Given the description of an element on the screen output the (x, y) to click on. 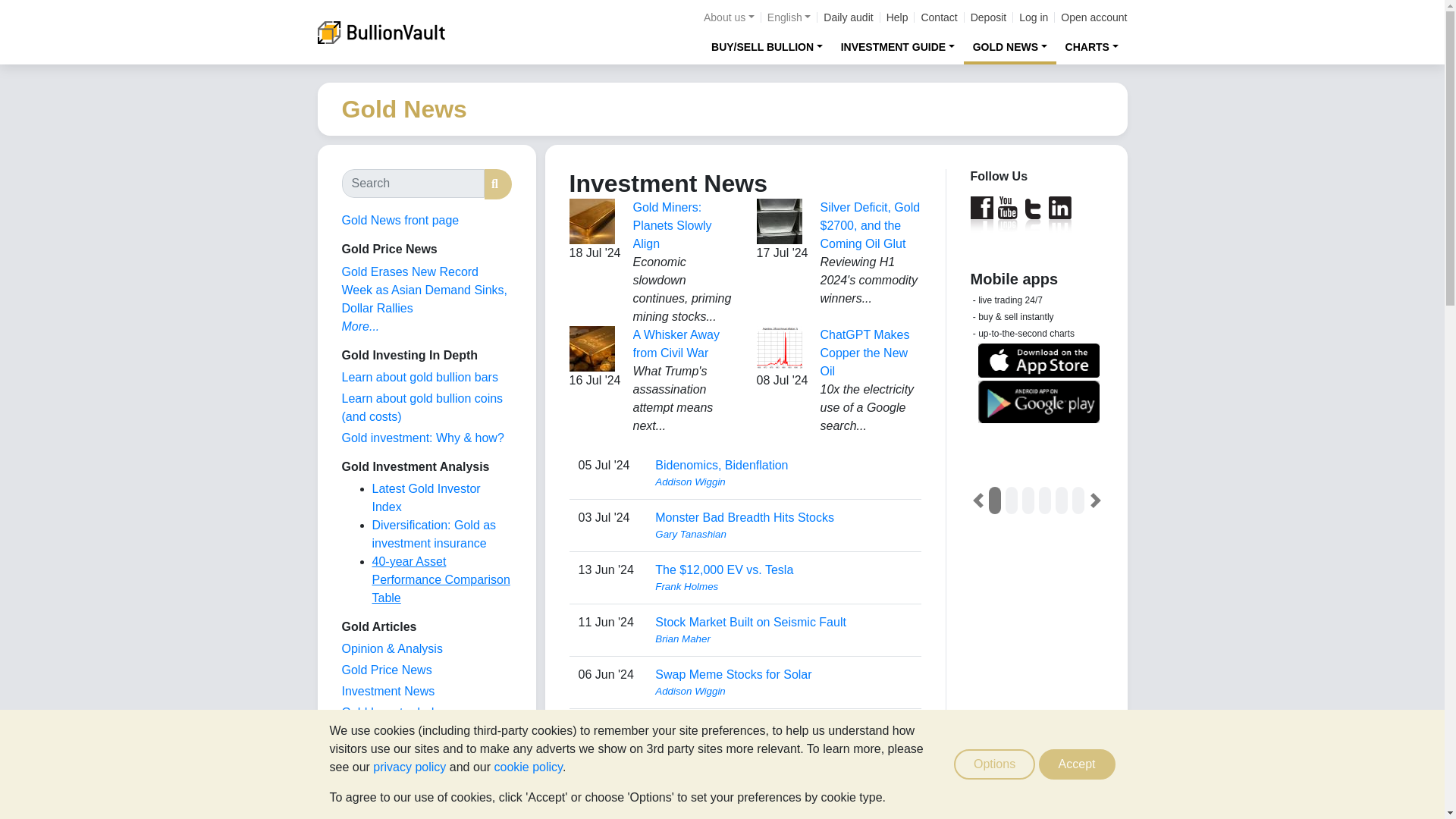
Deposit (988, 17)
privacy policy (408, 766)
The View from the Vault (391, 648)
View user profile. (783, 639)
Open account (1093, 17)
Gold Infographics (387, 733)
View user profile. (783, 743)
Options (994, 764)
Gold Price News (385, 669)
cookie policy (528, 766)
Gold in History (380, 775)
View user profile. (783, 482)
Help (897, 17)
View user profile. (783, 691)
Gold Investor Index (393, 712)
